Given the description of an element on the screen output the (x, y) to click on. 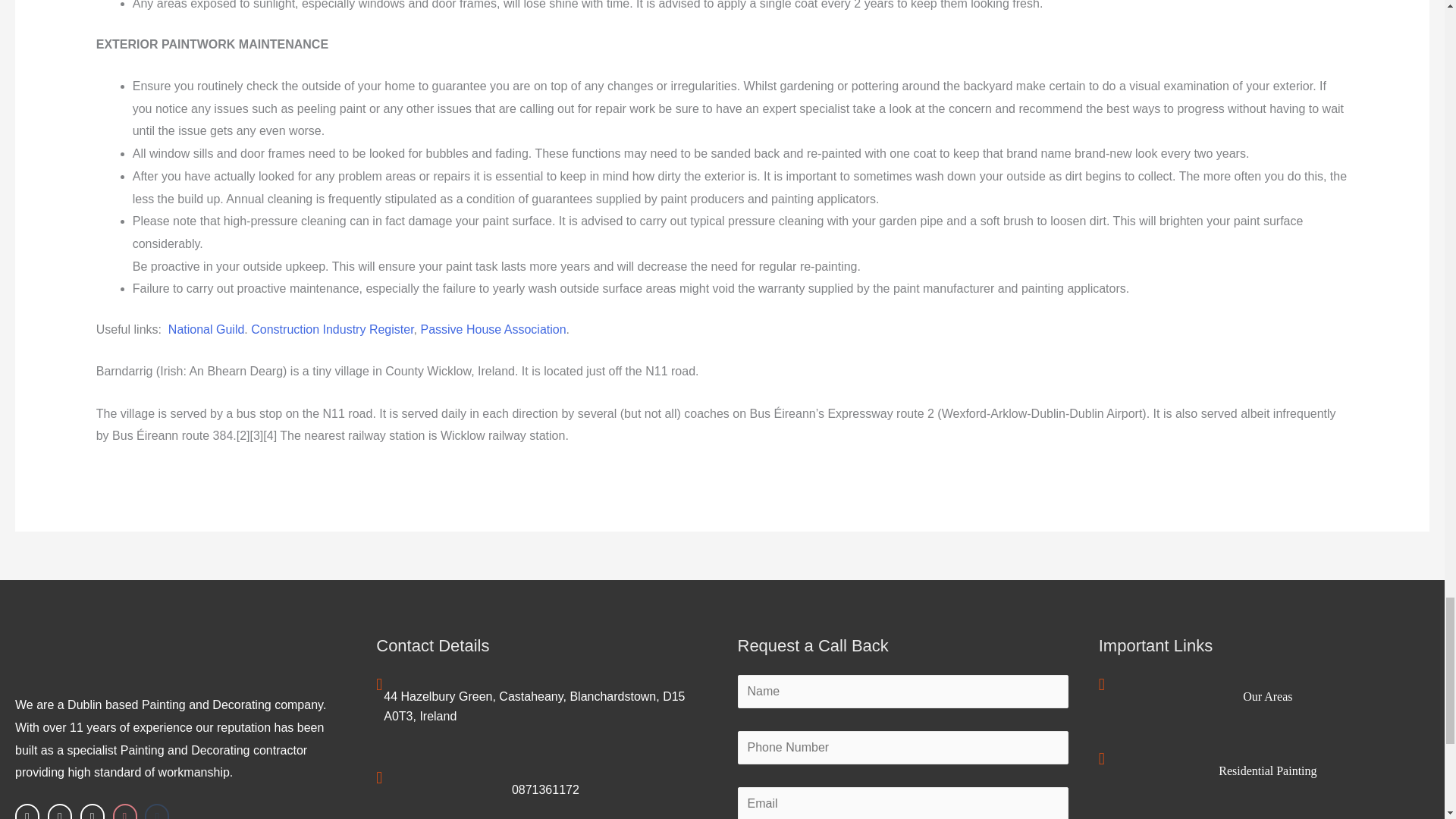
 on Google (92, 811)
 on Twitter (59, 811)
Construction Industry Register (331, 328)
Passive House Association (493, 328)
 on Facebook (26, 811)
National Guild (206, 328)
0871361172 (545, 789)
 on Tumblr (156, 811)
 on Pinterest (124, 811)
